Given the description of an element on the screen output the (x, y) to click on. 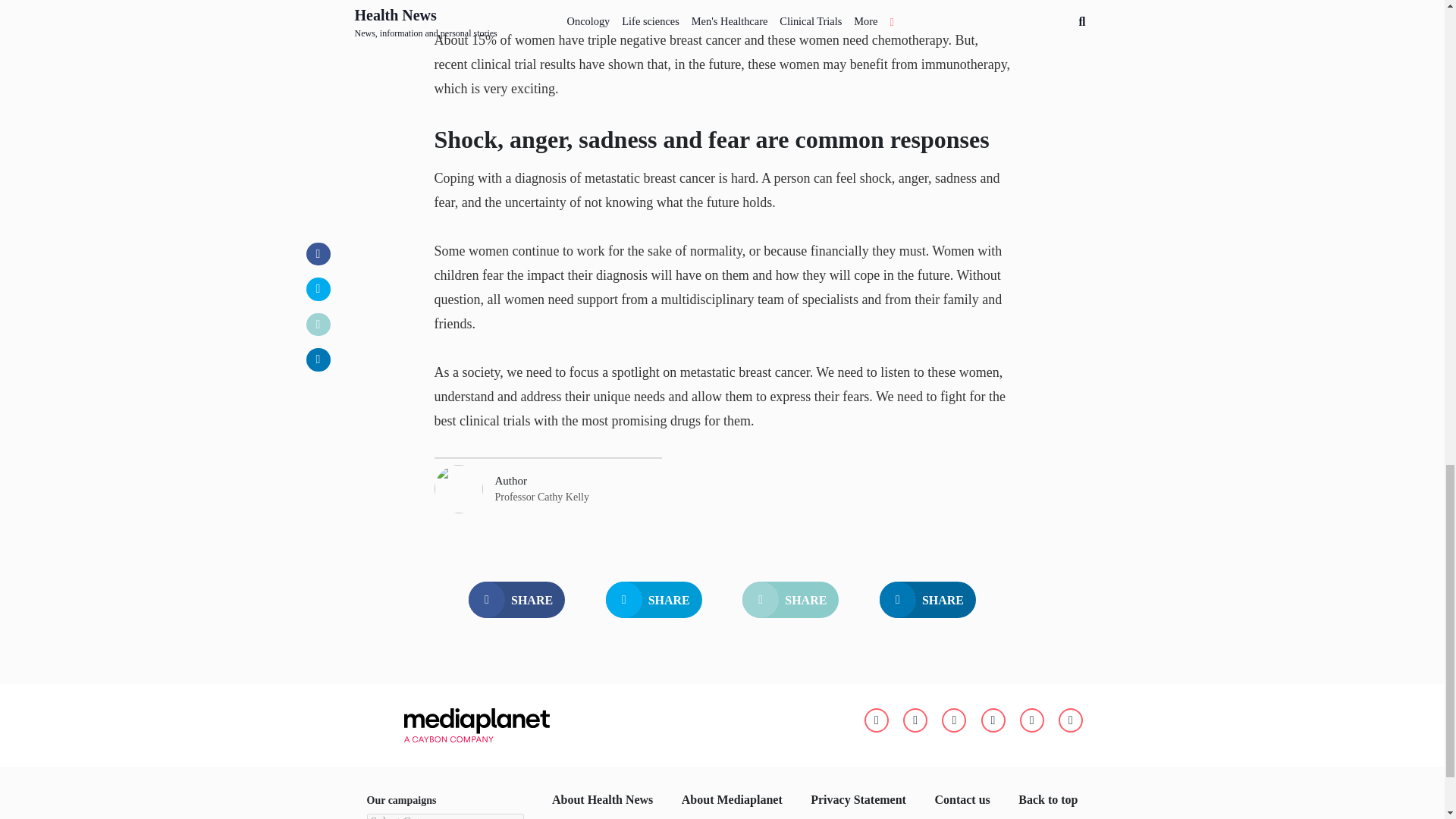
About Health News (601, 800)
SHARE (790, 599)
SHARE (653, 599)
SHARE (927, 599)
SHARE (516, 599)
Privacy Statement (857, 800)
About Mediaplanet (732, 800)
